Given the description of an element on the screen output the (x, y) to click on. 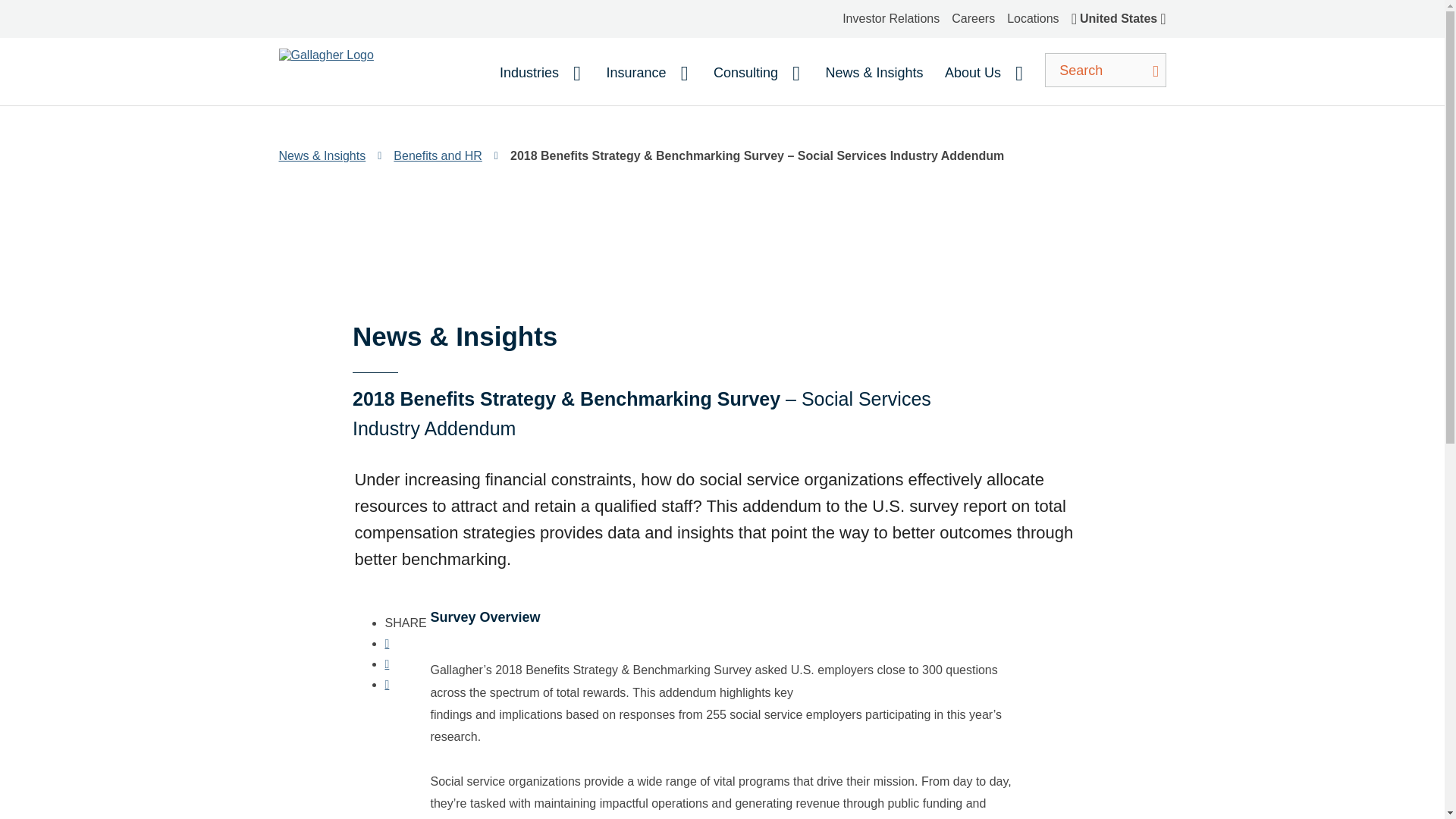
Careers (973, 18)
Investor Relations (891, 18)
Locations (1033, 18)
Industries (538, 72)
